Given the description of an element on the screen output the (x, y) to click on. 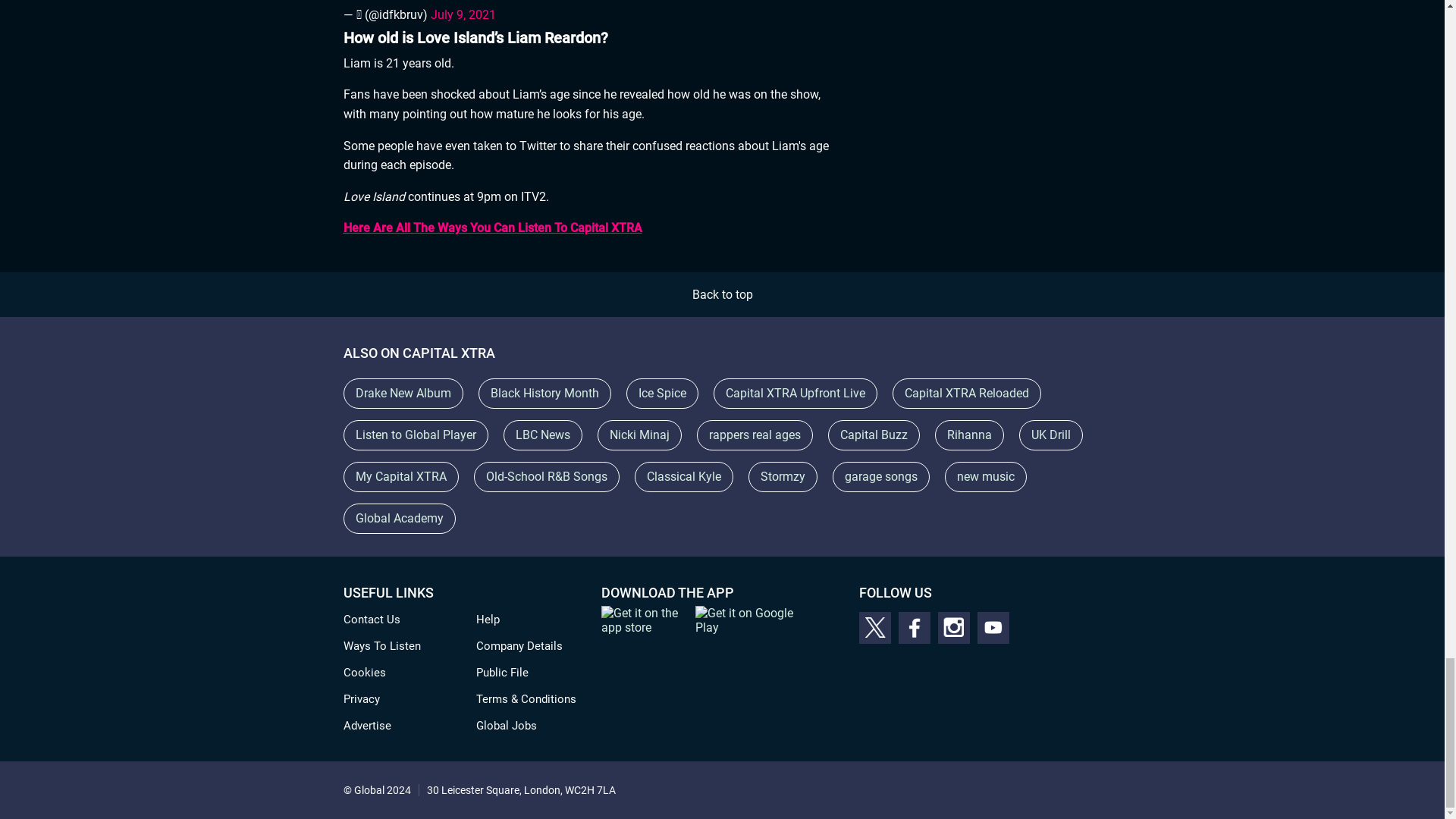
Follow CapitalXtra on Facebook (914, 627)
Follow CapitalXtra on X (874, 627)
Follow CapitalXtra on Youtube (992, 627)
Back to top (721, 294)
Follow CapitalXtra on Instagram (953, 627)
